Given the description of an element on the screen output the (x, y) to click on. 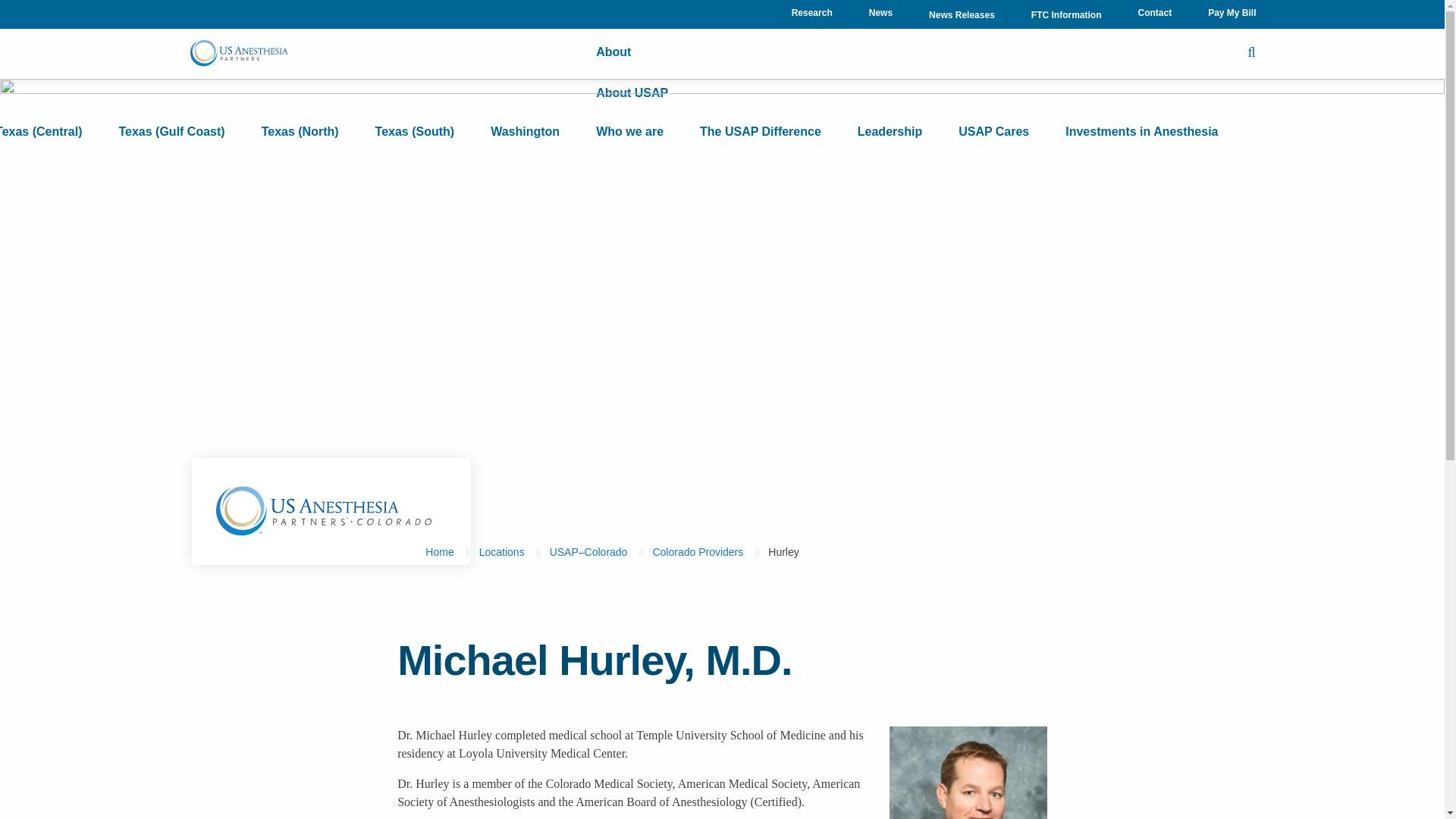
Contact (1154, 12)
Pay My Bill (1222, 12)
Locations (289, 51)
Washington (524, 131)
FTC Information (1066, 14)
Research (811, 12)
News Releases (962, 14)
Our Locations (289, 92)
